Given the description of an element on the screen output the (x, y) to click on. 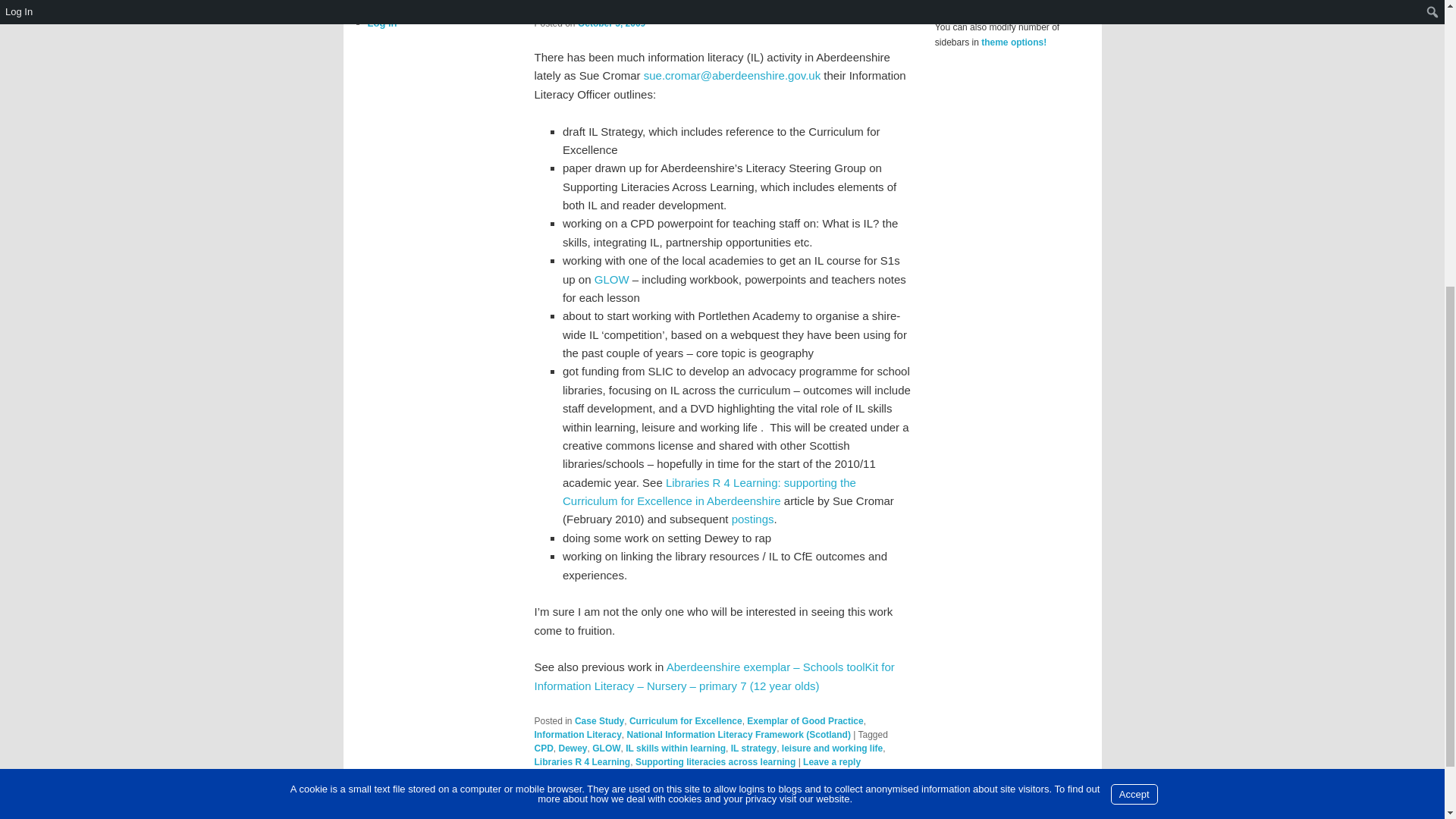
postings (753, 518)
GLOW website (611, 278)
2:55 am (611, 23)
